Given the description of an element on the screen output the (x, y) to click on. 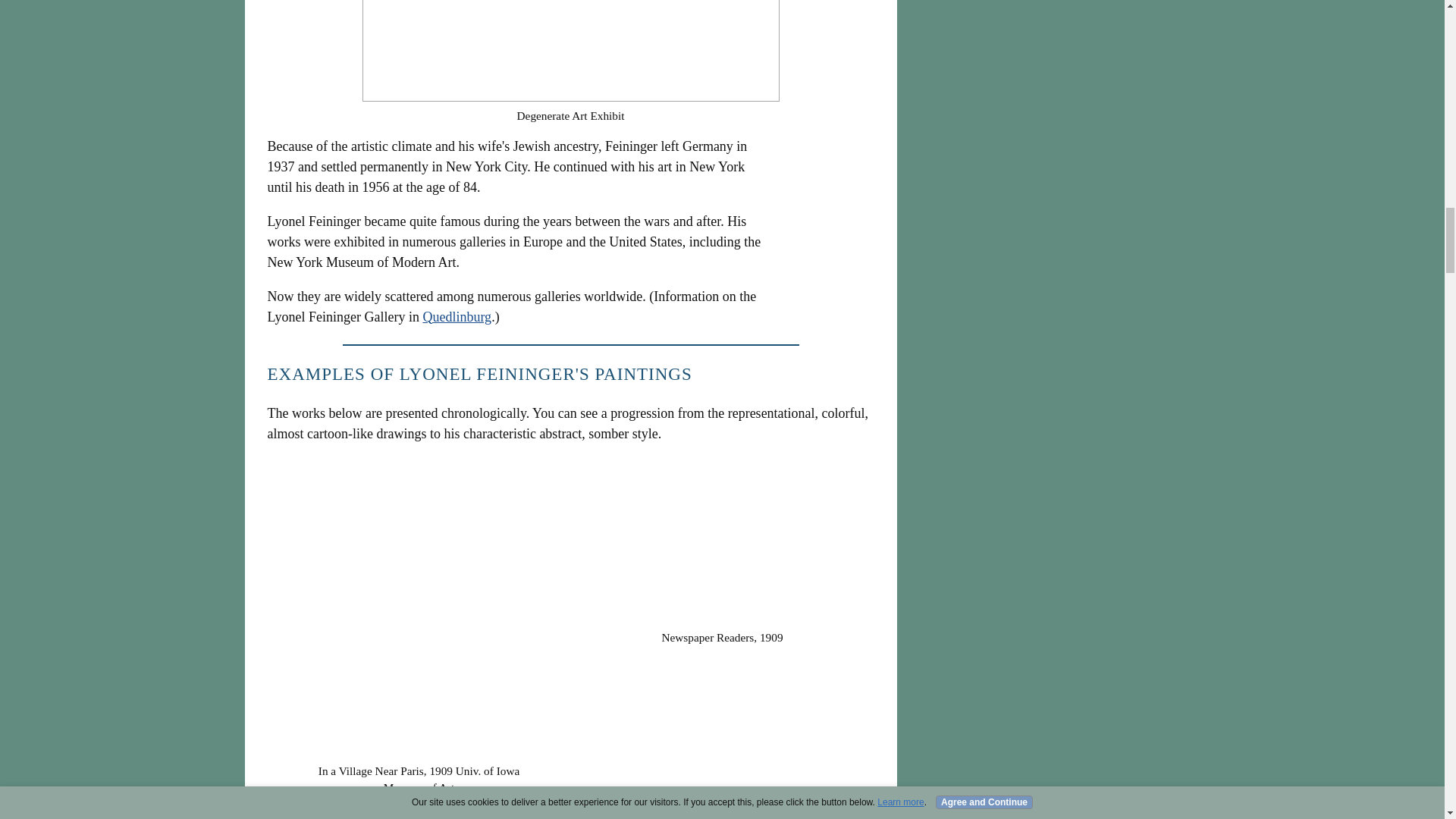
Quedlinburg (457, 316)
Degenerate Art Exhibit, Hitler and Goebbels attending (570, 50)
Lyonel Feininger, Longeuil, Normandie, 1909 (418, 817)
Lyonel Feininger, Velocipedists, 1910 (721, 817)
Lyonel Feininger, Newspaper Readers, 1909 (722, 543)
